Given the description of an element on the screen output the (x, y) to click on. 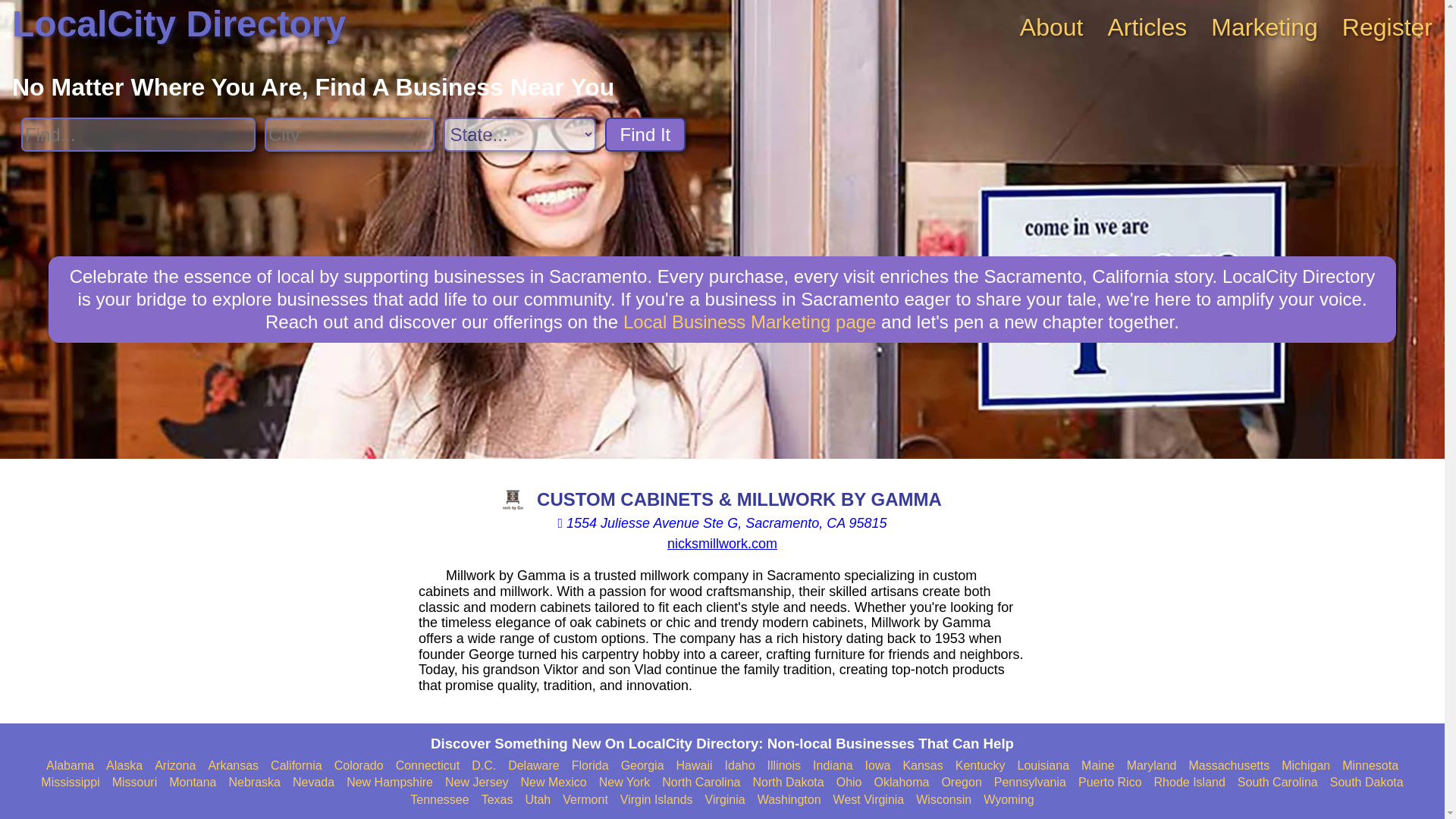
Mississippi (69, 782)
Maine (1098, 766)
Find Businesses in Arkansas (233, 766)
Alabama (70, 766)
Find It (645, 134)
Find Businesses in Arizona (174, 766)
Find Businesses in Delaware (533, 766)
Register My Business (1387, 27)
Visit nicksmillwork.com (721, 543)
New Jersey (476, 782)
